Given the description of an element on the screen output the (x, y) to click on. 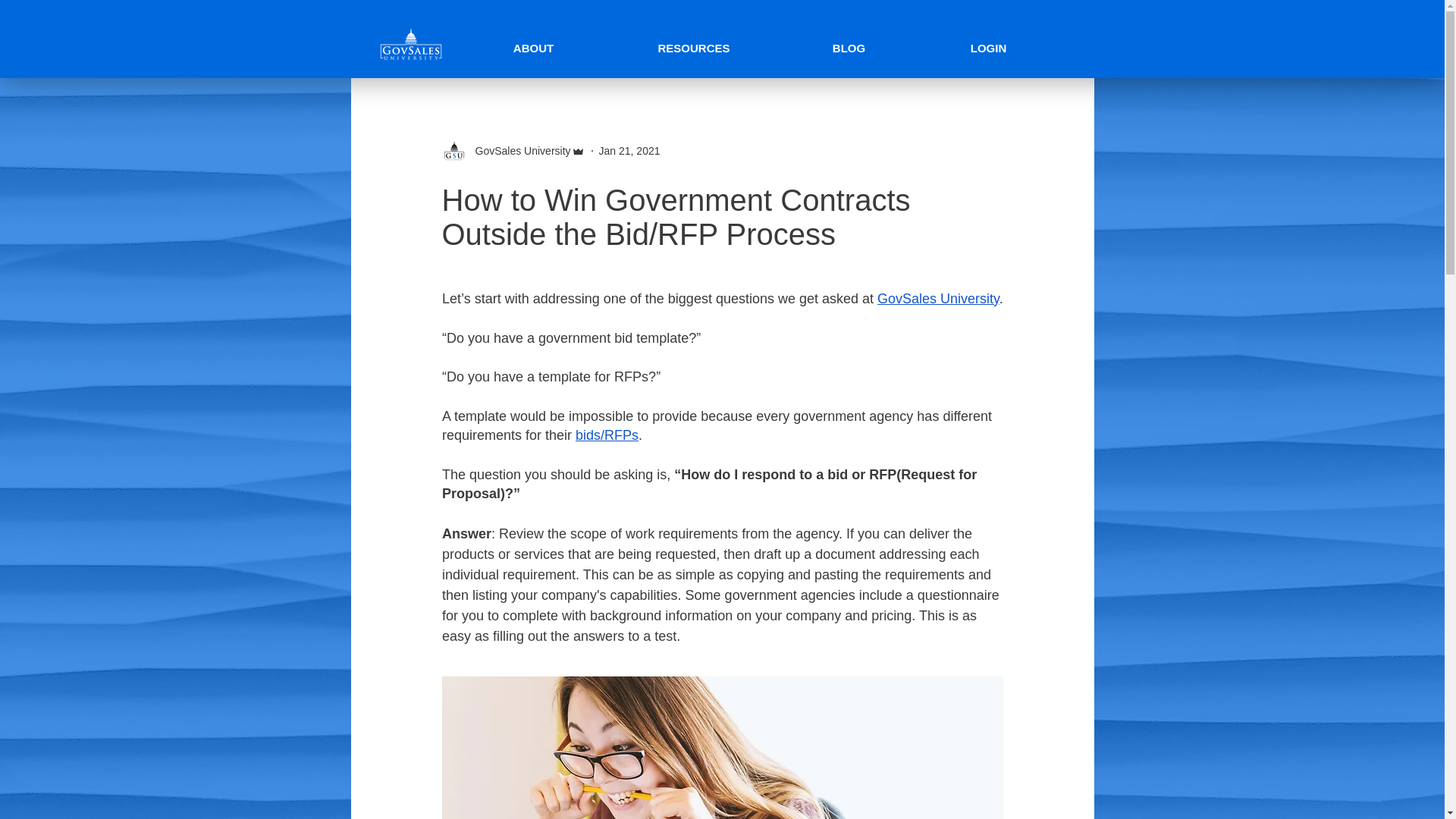
Jan 21, 2021 (629, 150)
GovSales University (517, 150)
GovSales University (937, 298)
BLOG (847, 48)
LOGIN (988, 48)
ABOUT (533, 48)
